Given the description of an element on the screen output the (x, y) to click on. 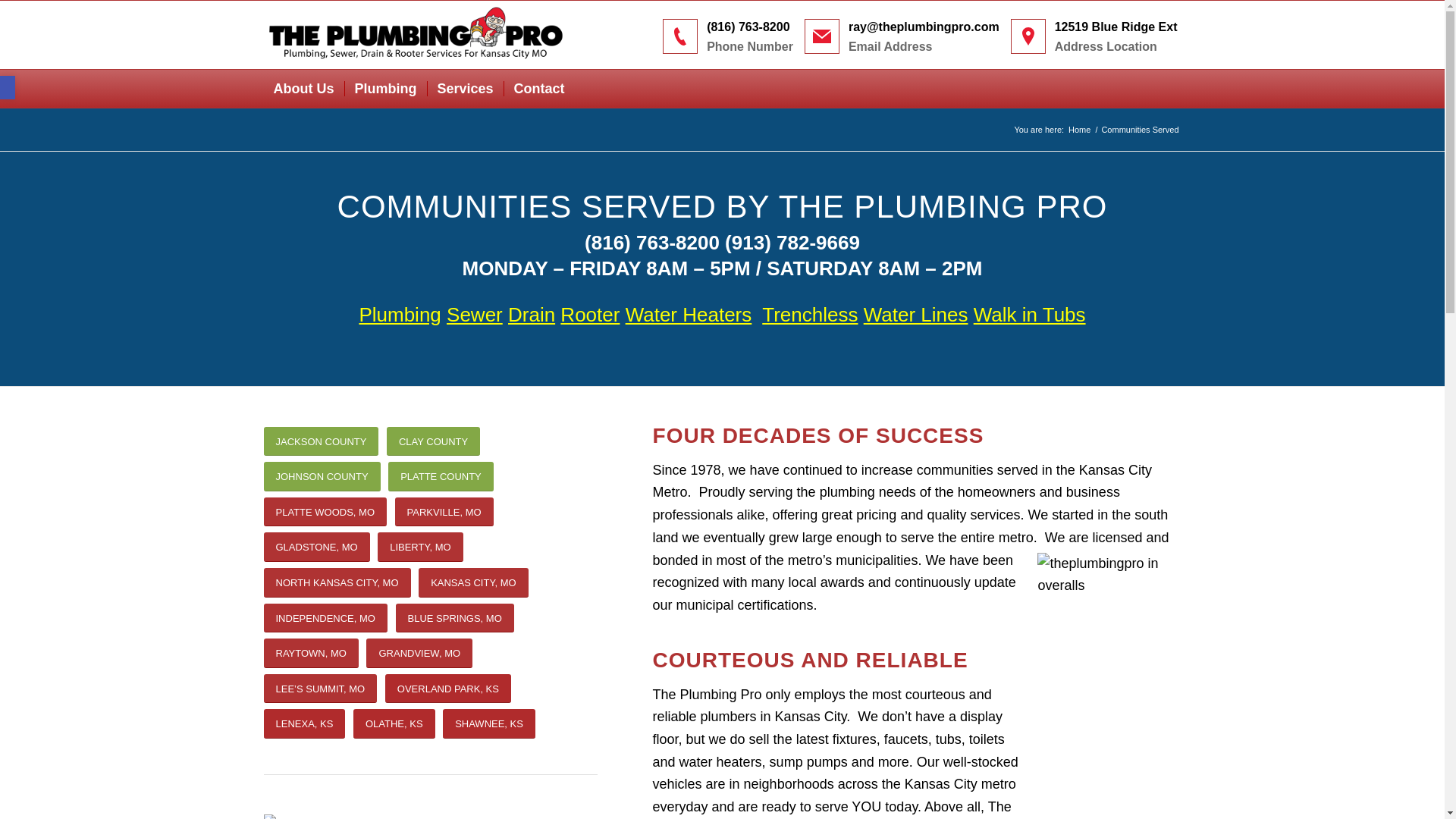
ThePlumbingPro.Com (1079, 129)
About Us (303, 88)
Plumbing (384, 88)
12519 Blue Ridge Ext (1115, 26)
